Given the description of an element on the screen output the (x, y) to click on. 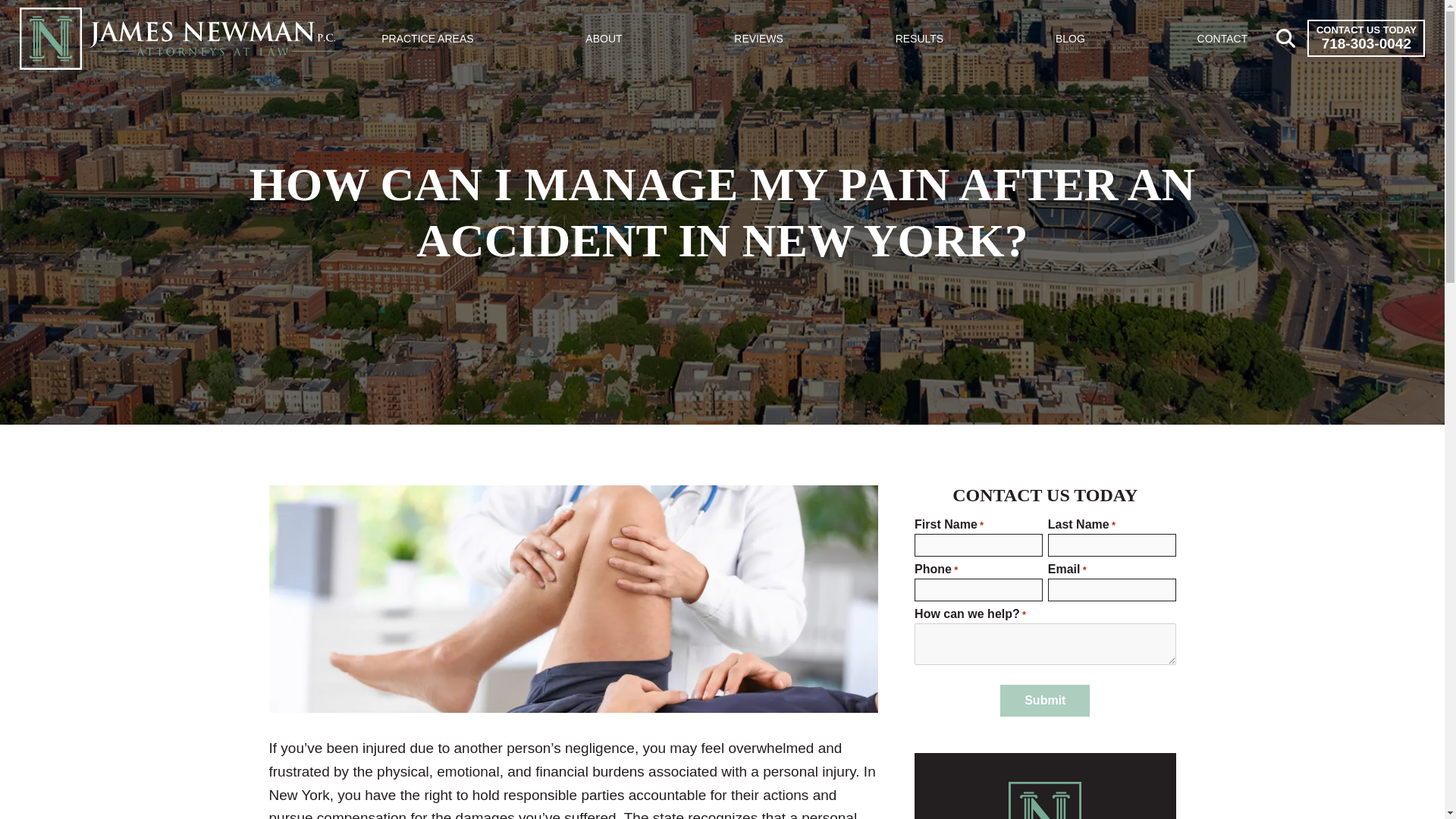
Submit (1044, 700)
